Given the description of an element on the screen output the (x, y) to click on. 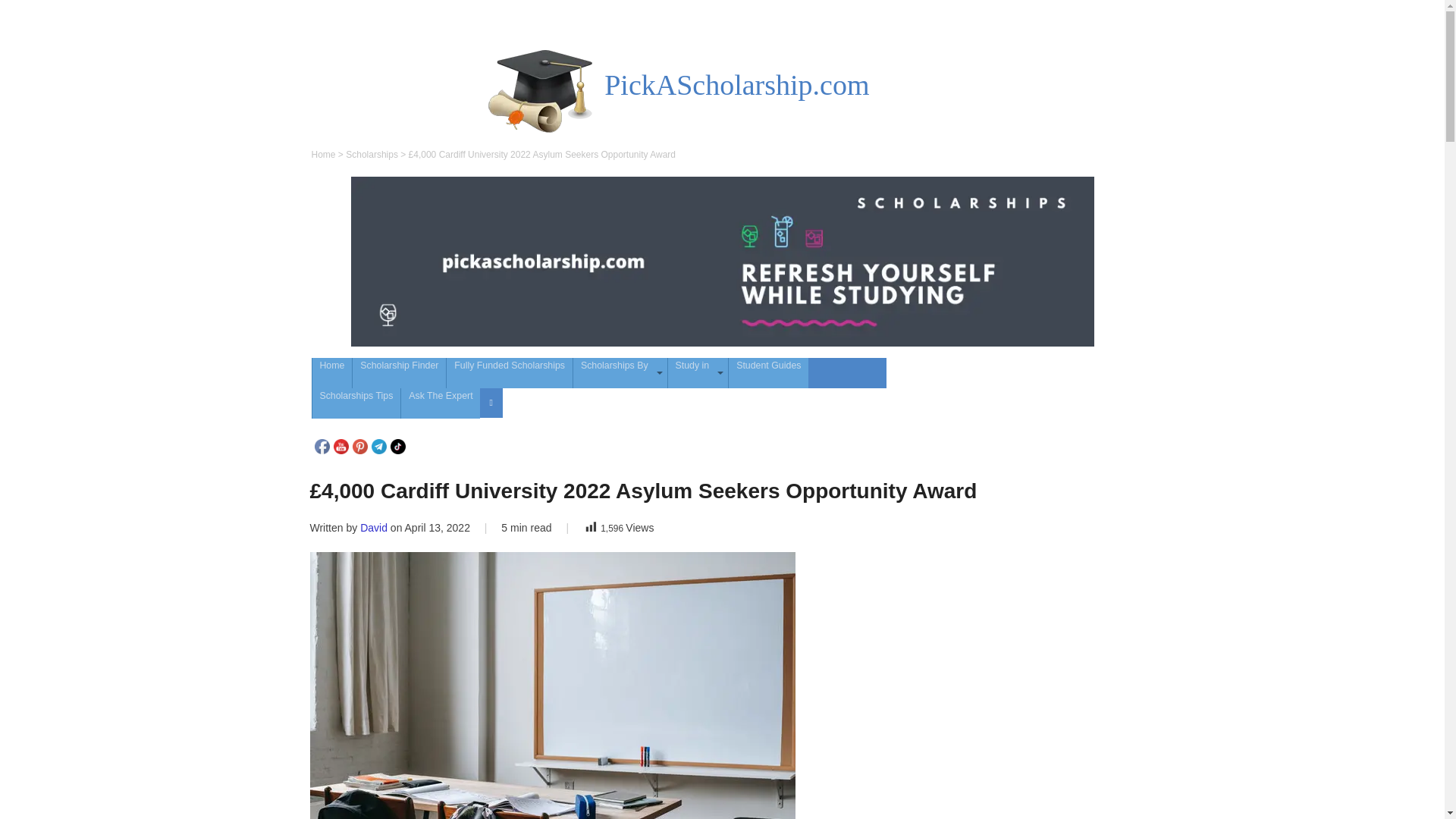
Go to Scholarships. (371, 154)
Pinterest (359, 446)
Scholarships (371, 154)
Telegram (379, 446)
Fully Funded Scholarships (509, 372)
Scholarships By (619, 372)
Scholarship Finder (398, 372)
PickAScholarship.com (736, 84)
Facebook (321, 446)
YouTube (341, 446)
